Given the description of an element on the screen output the (x, y) to click on. 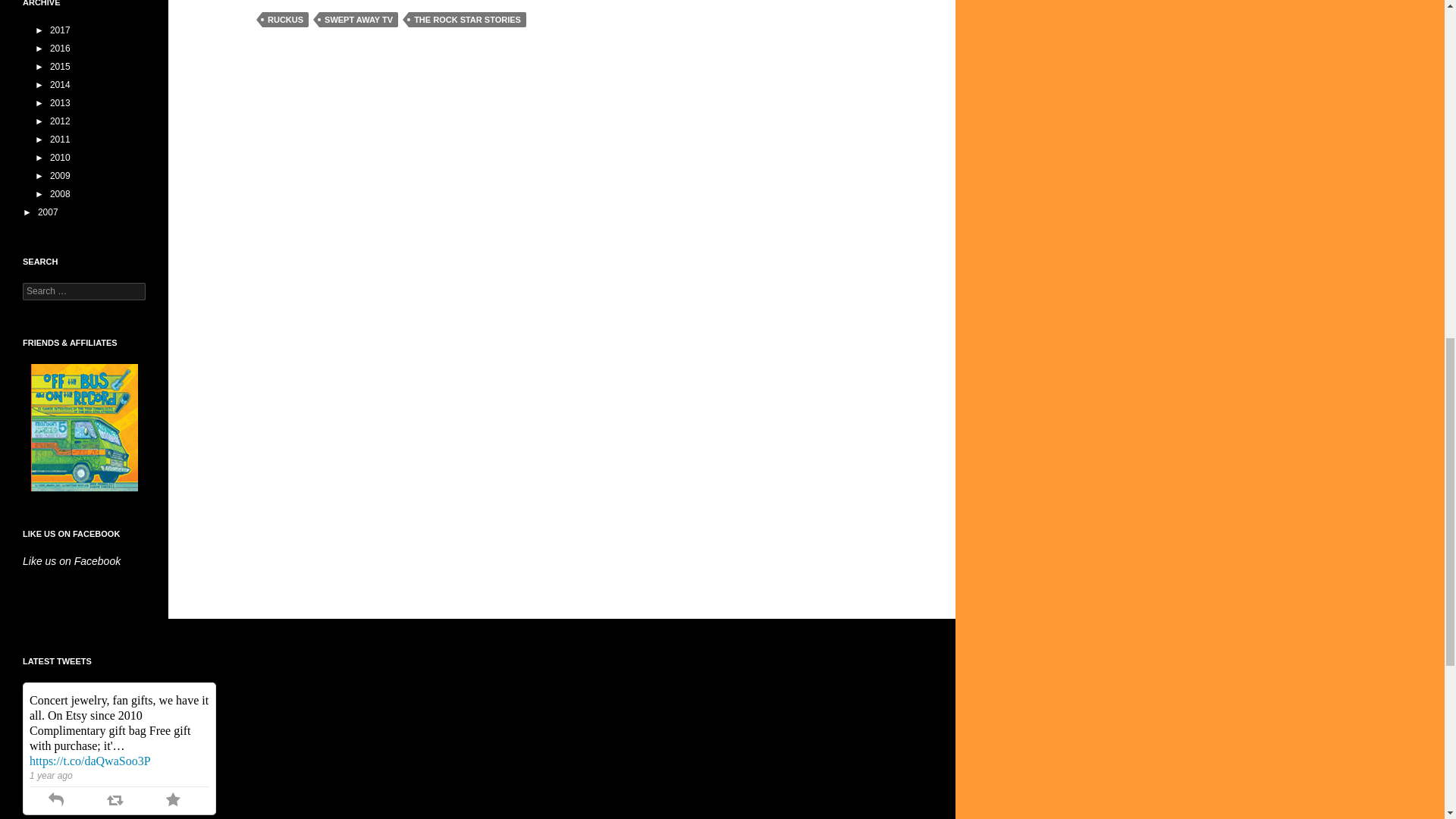
THE ROCK STAR STORIES (467, 19)
2014 (51, 84)
SWEPT AWAY TV (357, 19)
2016 (51, 48)
2015 (51, 66)
2017 (51, 30)
RUCKUS (285, 19)
